Given the description of an element on the screen output the (x, y) to click on. 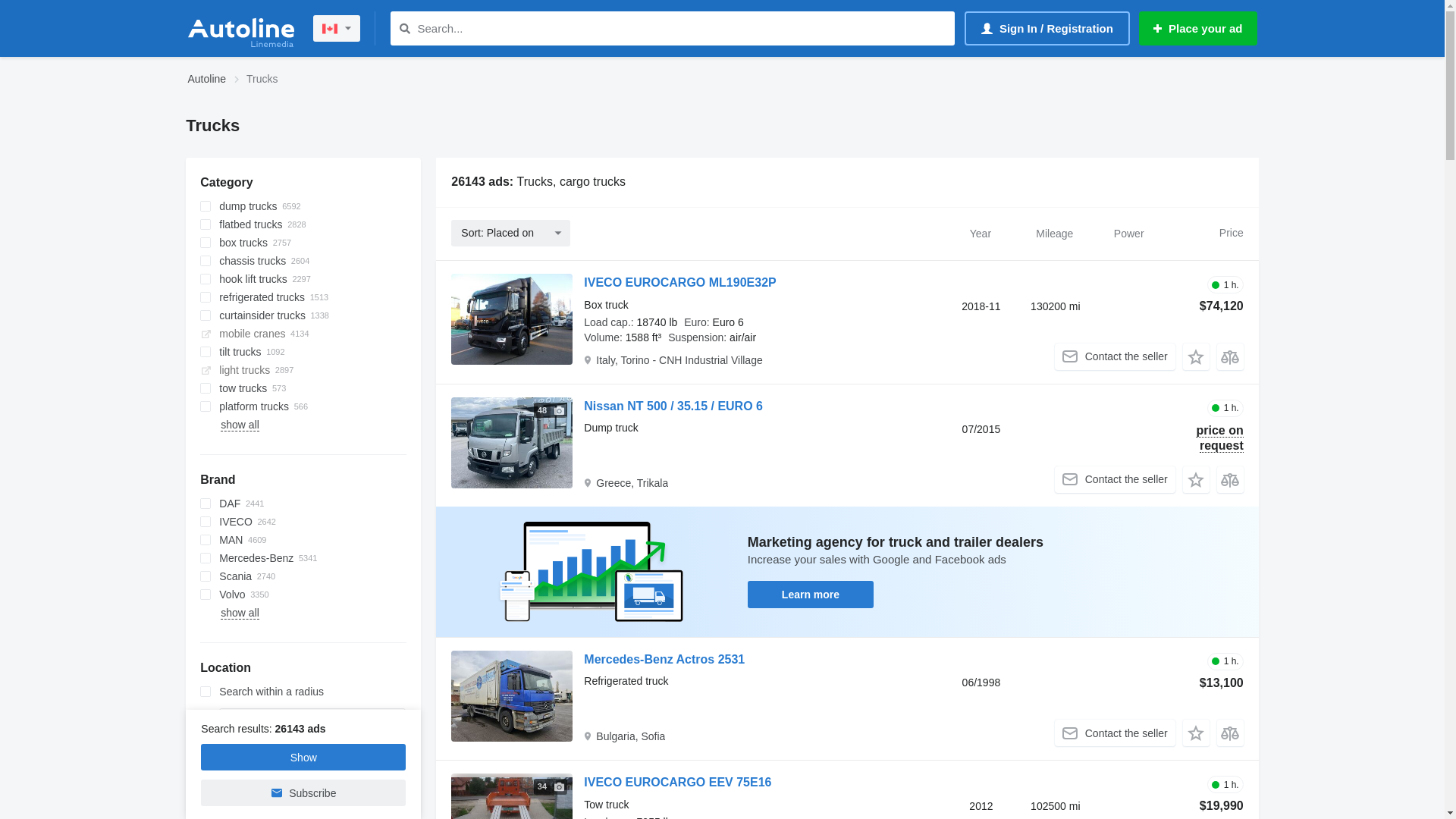
light trucks Element type: text (303, 369)
Compare Element type: hover (1230, 732)
curtainsider trucks Element type: text (303, 315)
chassis trucks Element type: text (303, 260)
Price Element type: text (1203, 232)
refrigerated trucks Element type: text (303, 297)
platform trucks Element type: text (303, 406)
Nissan NT 500 / 35.15 / EURO 6 Element type: text (672, 408)
Add to favourites Element type: hover (1196, 356)
Add to favourites Element type: hover (1196, 732)
hook lift trucks Element type: text (303, 278)
IVECO Element type: text (303, 521)
dump trucks Element type: text (303, 206)
MAN Element type: text (303, 539)
Add to favourites Element type: hover (1196, 479)
Mercedes-Benz Element type: text (303, 558)
Learn more Element type: text (810, 594)
IVECO EUROCARGO EEV 75E16 Element type: text (677, 784)
tow trucks Element type: text (303, 388)
Year Element type: text (980, 232)
mobile cranes Element type: text (303, 333)
Volvo Element type: text (303, 594)
flatbed trucks Element type: text (303, 224)
IVECO EUROCARGO ML190E32P Element type: text (679, 284)
Autoline Canada Element type: hover (241, 28)
box trucks Element type: text (303, 242)
Scania Element type: text (303, 576)
Compare Element type: hover (1230, 356)
Compare Element type: hover (1230, 479)
Mileage Element type: text (1054, 232)
Autoline Element type: text (207, 79)
DAF Element type: text (303, 503)
tilt trucks Element type: text (303, 351)
Mercedes-Benz Actros 2531 Element type: text (663, 661)
